Given the description of an element on the screen output the (x, y) to click on. 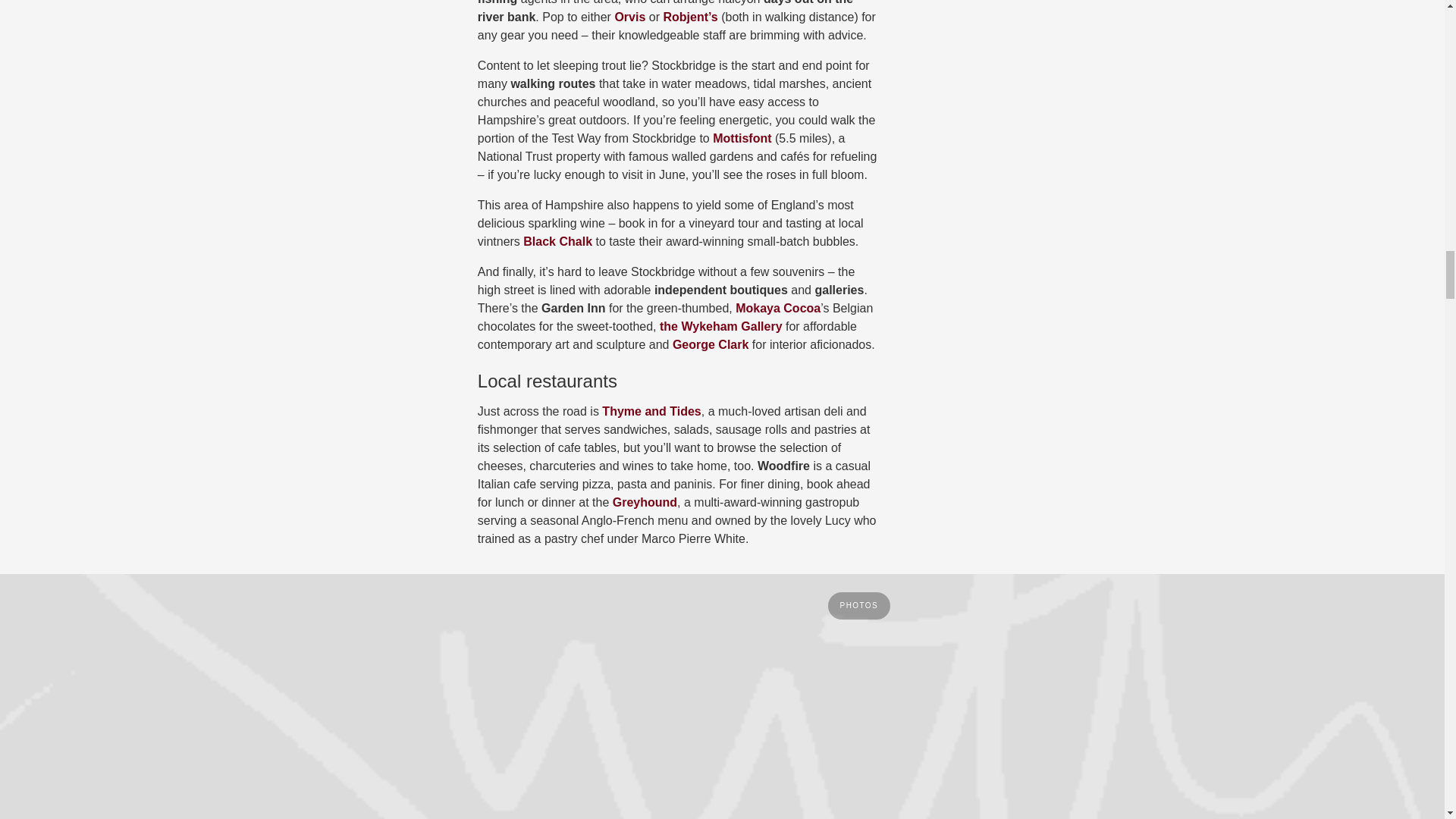
the Wykeham Gallery (721, 326)
George Clark (710, 344)
Orvis (629, 16)
Mottisfont (742, 137)
Mokaya Cocoa (778, 308)
Black Chalk (558, 241)
